Given the description of an element on the screen output the (x, y) to click on. 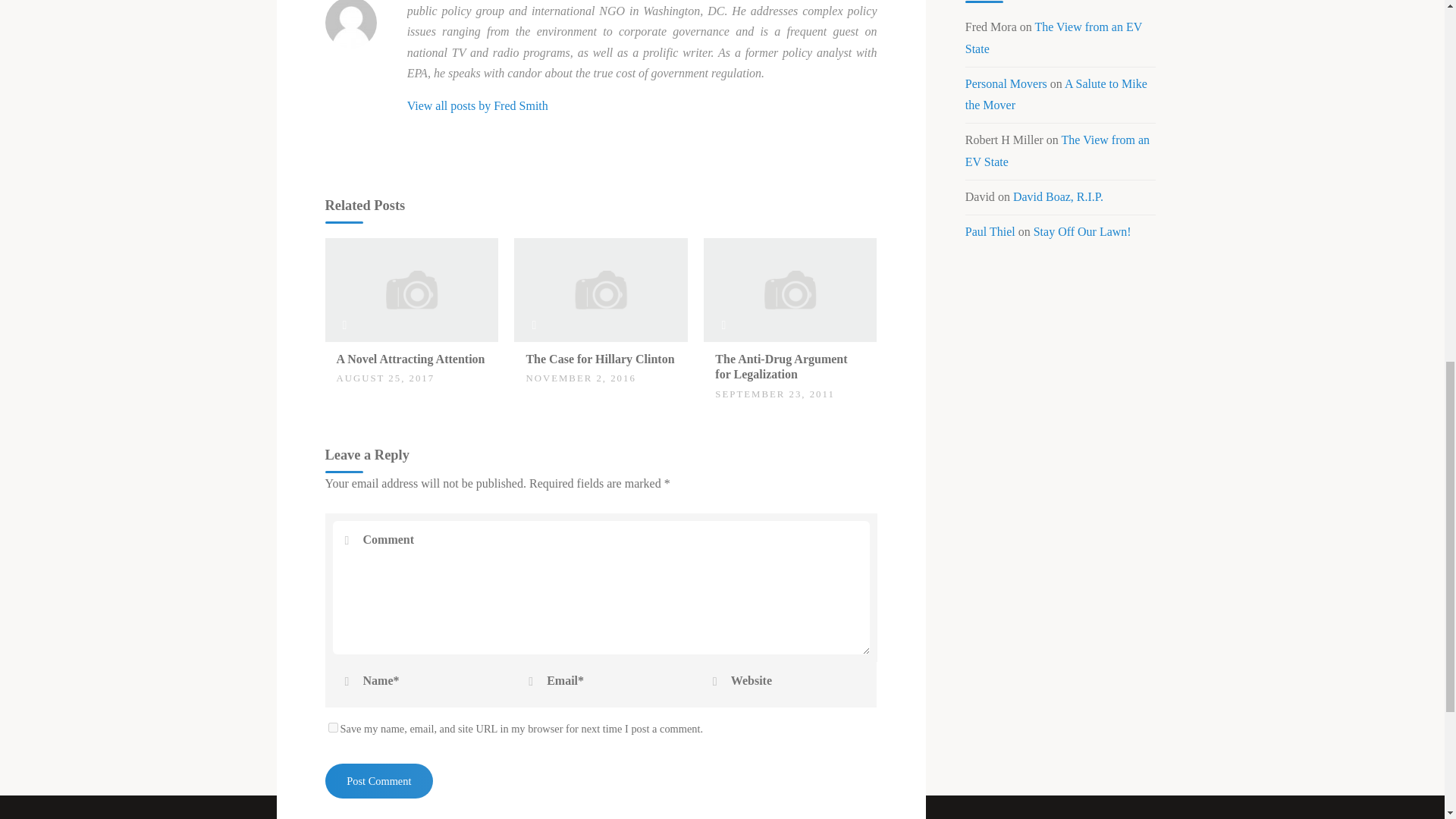
yes (332, 727)
0 (344, 352)
The Case for Hillary Clinton (599, 358)
Post Comment (378, 780)
View all posts by Fred Smith (477, 105)
0 (533, 352)
A Novel Attracting Attention (410, 358)
A Novel Attracting Attention (410, 358)
A Novel Attracting Attention (410, 287)
